Given the description of an element on the screen output the (x, y) to click on. 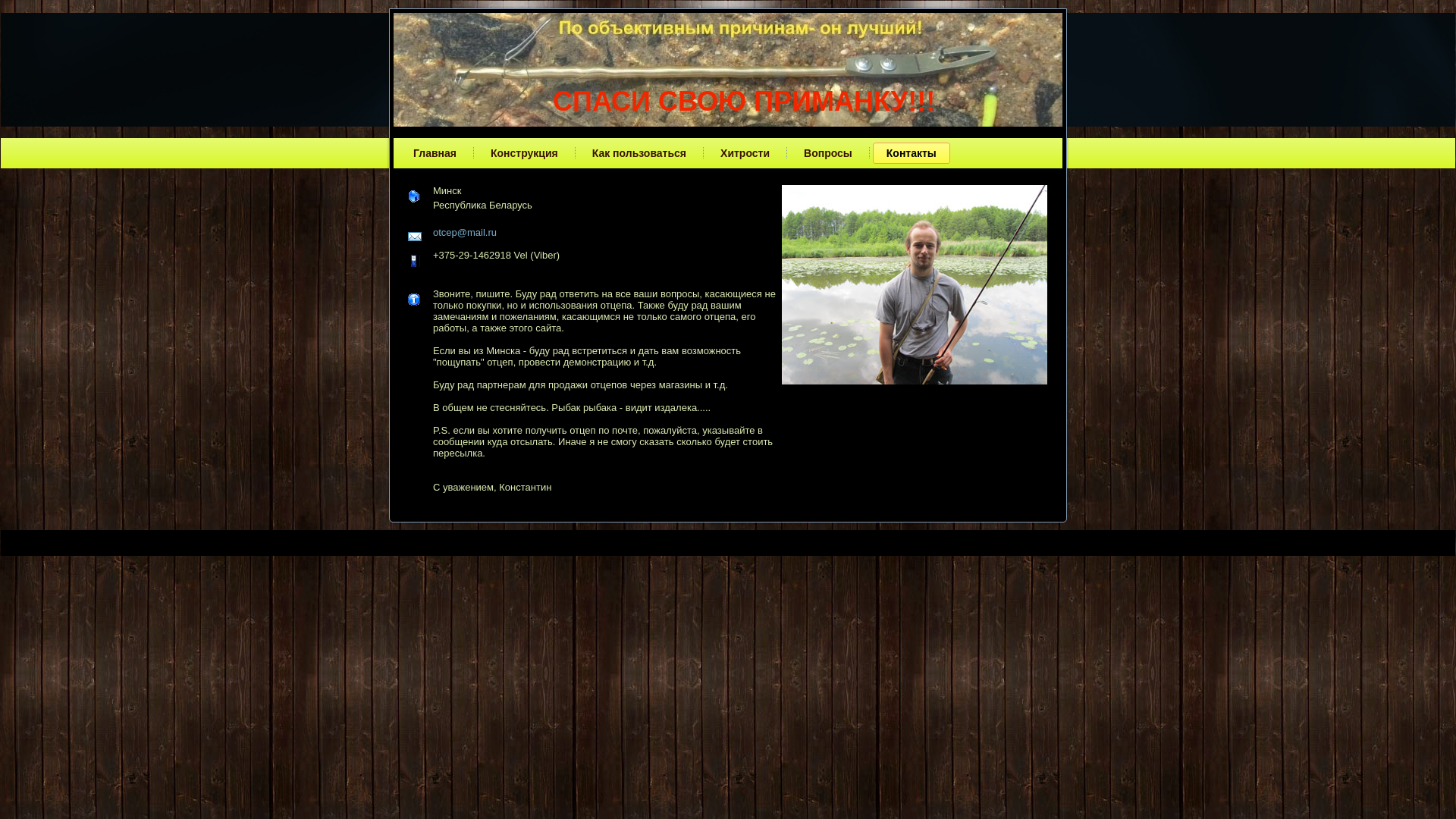
Link1 Element type: text (701, 537)
Link3 Element type: text (754, 537)
otcep@mail.ru Element type: text (464, 232)
Link2 Element type: text (727, 537)
